Given the description of an element on the screen output the (x, y) to click on. 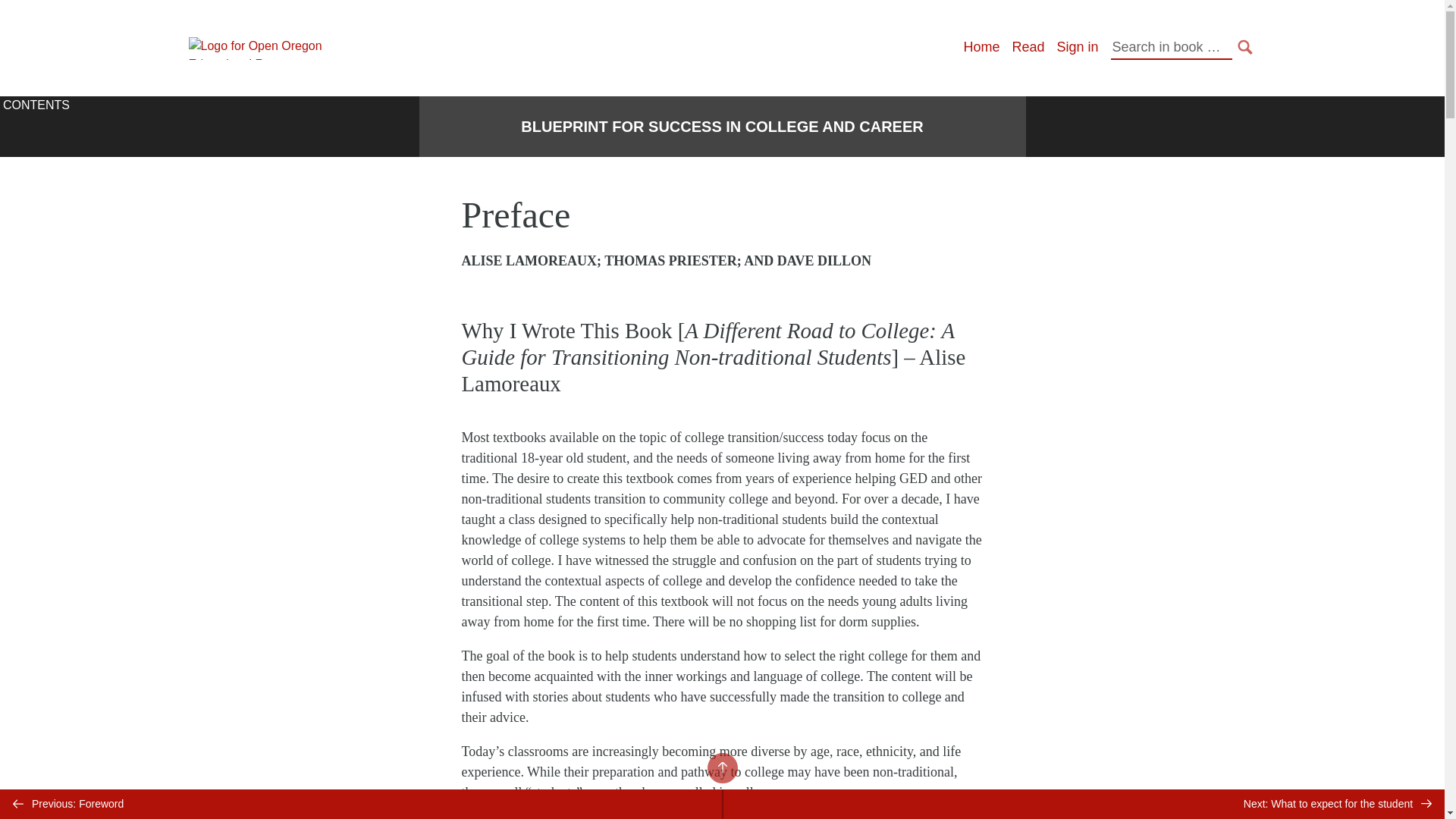
Previous: Foreword (361, 804)
BACK TO TOP (721, 767)
Sign in (1077, 46)
Home (980, 46)
Read (1027, 46)
BLUEPRINT FOR SUCCESS IN COLLEGE AND CAREER (722, 126)
Previous: Foreword (361, 804)
